Given the description of an element on the screen output the (x, y) to click on. 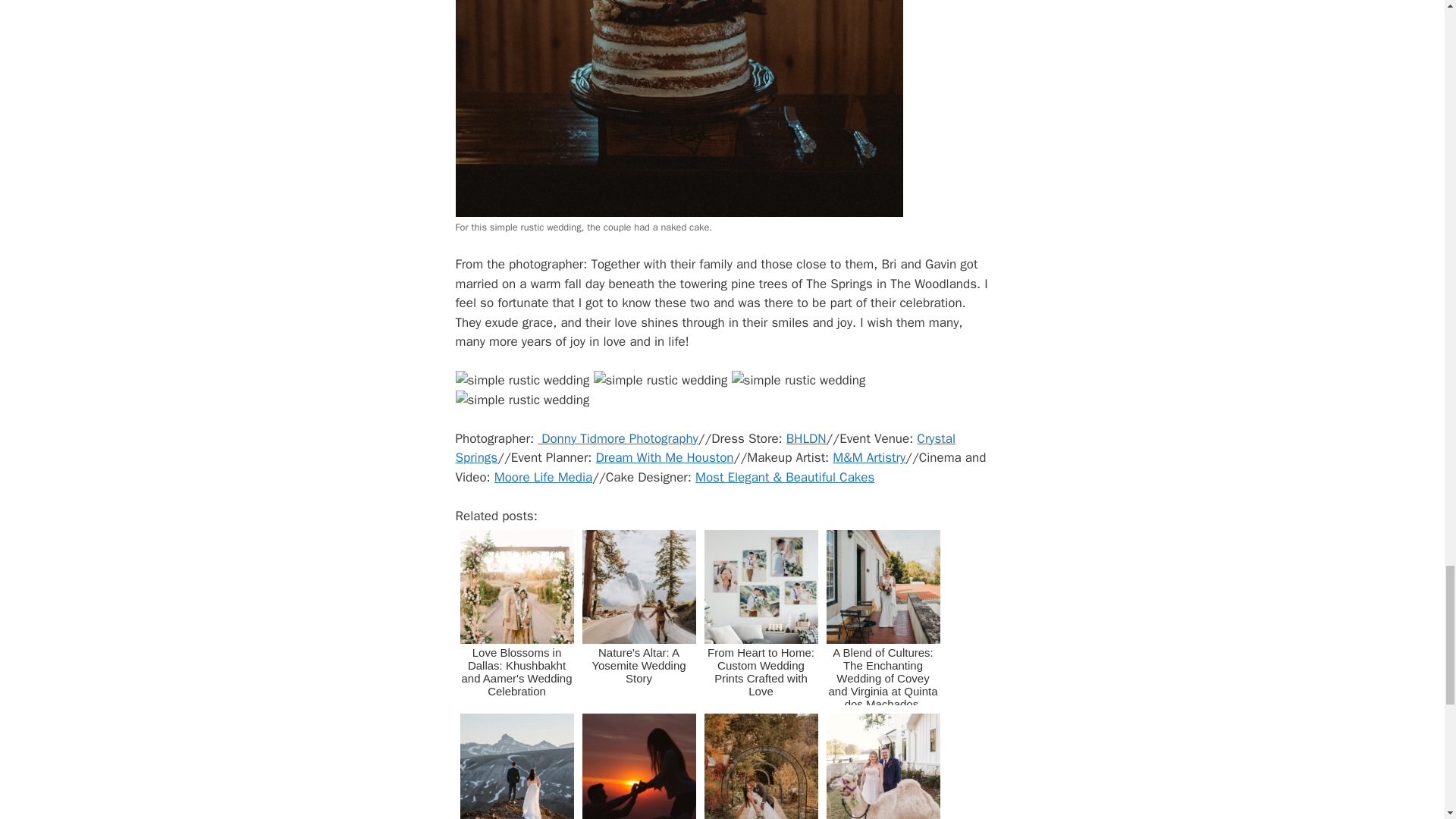
 Donny Tidmore Photography (617, 438)
13 Signs You Should Check Before Proposing to Her  (639, 764)
Dream With Me Houston (664, 457)
BHLDN (806, 438)
Moore Life Media (543, 477)
Crystal Springs (704, 448)
